Given the description of an element on the screen output the (x, y) to click on. 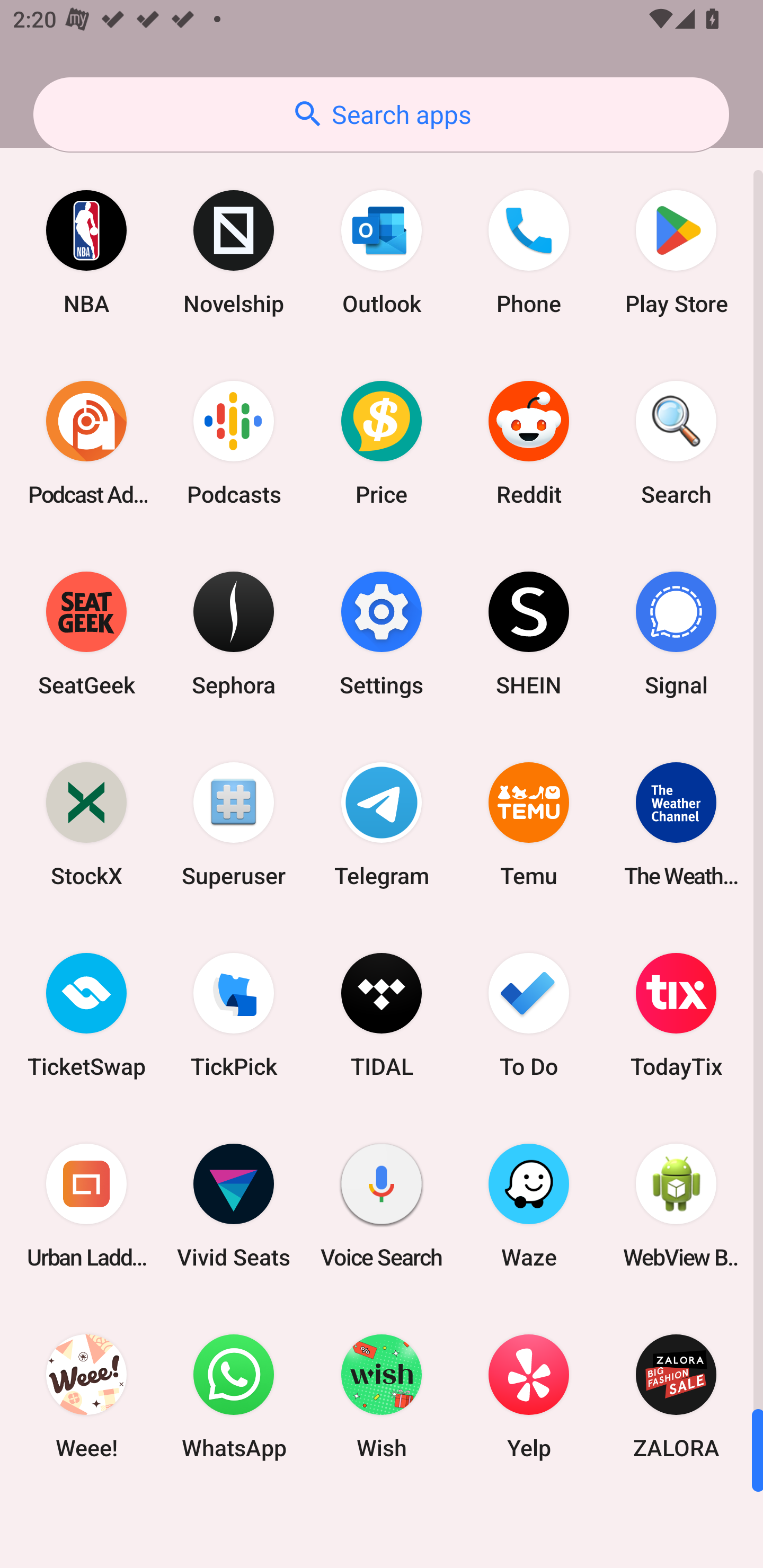
Signal (676, 633)
